Given the description of an element on the screen output the (x, y) to click on. 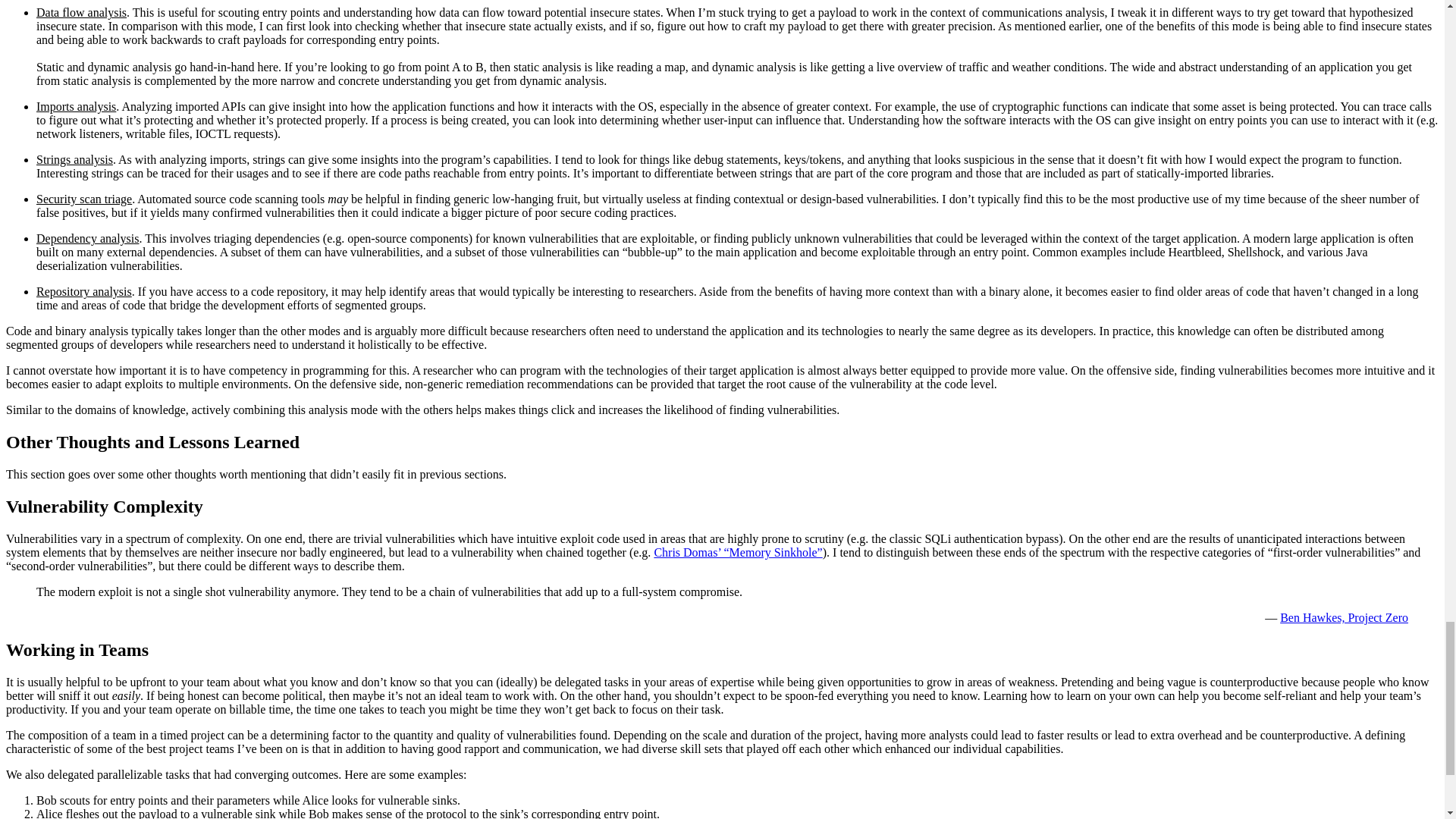
Ben Hawkes, Project Zero (1343, 617)
